Given the description of an element on the screen output the (x, y) to click on. 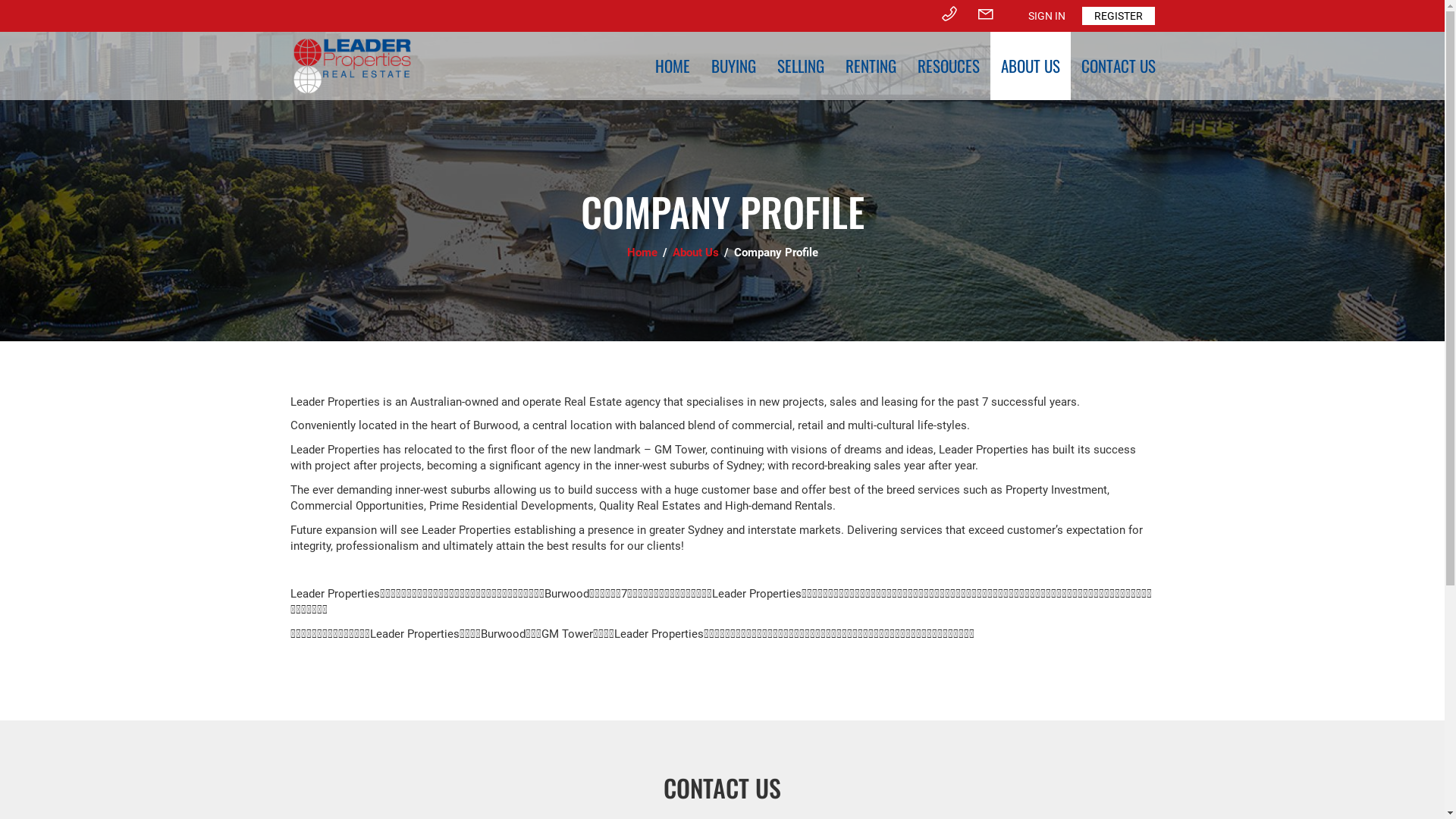
CONTACT US Element type: text (1118, 65)
About Us Element type: text (696, 252)
Home Element type: text (642, 252)
HOME Element type: text (672, 65)
SELLING Element type: text (799, 65)
BUYING Element type: text (733, 65)
RESOUCES Element type: text (948, 65)
ABOUT US Element type: text (1030, 65)
REGISTER Element type: text (1117, 15)
RENTING Element type: text (870, 65)
SIGN IN Element type: text (1046, 15)
